Given the description of an element on the screen output the (x, y) to click on. 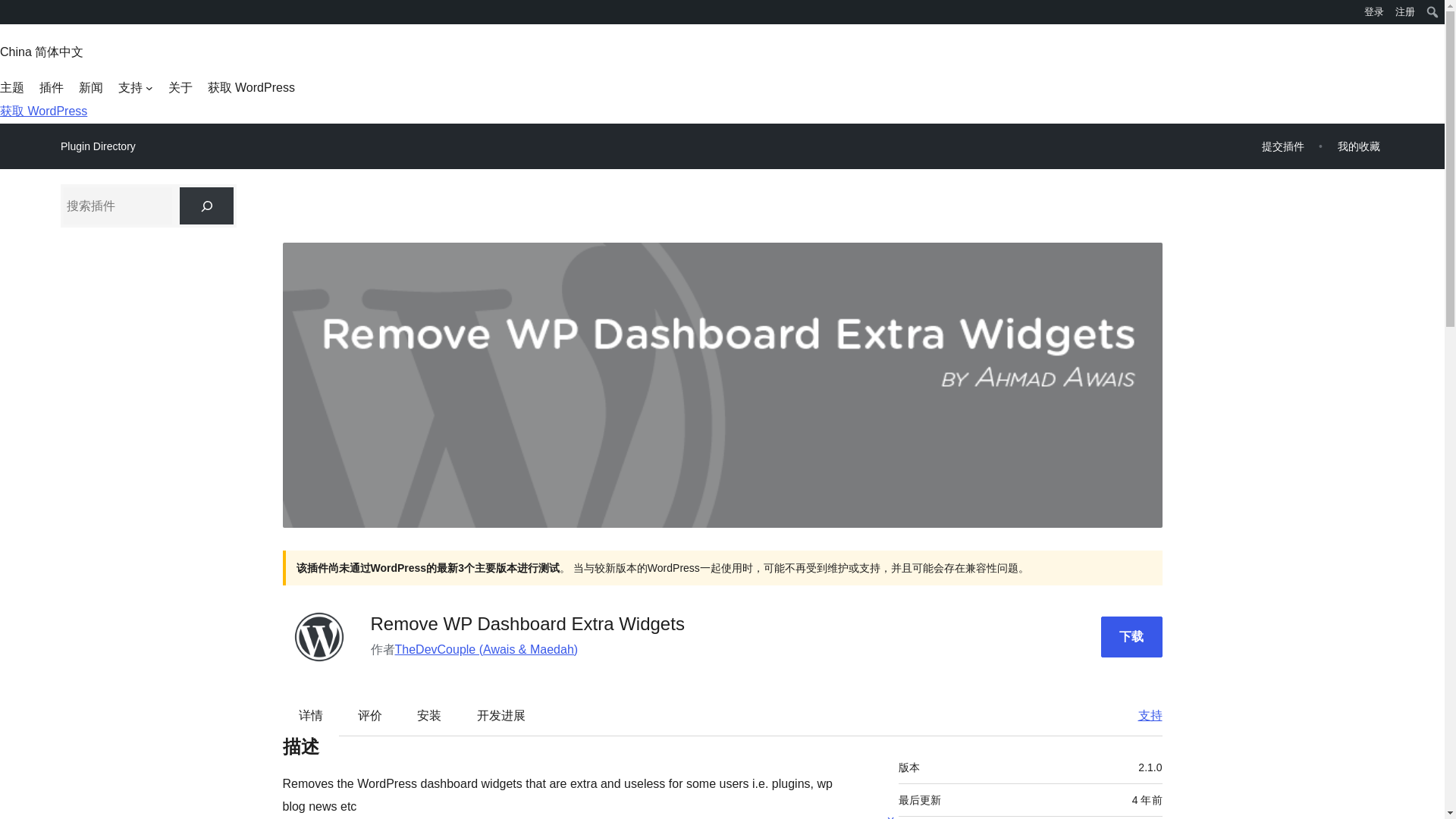
Plugin Directory (97, 146)
WordPress.org (10, 10)
WordPress.org (10, 16)
